Given the description of an element on the screen output the (x, y) to click on. 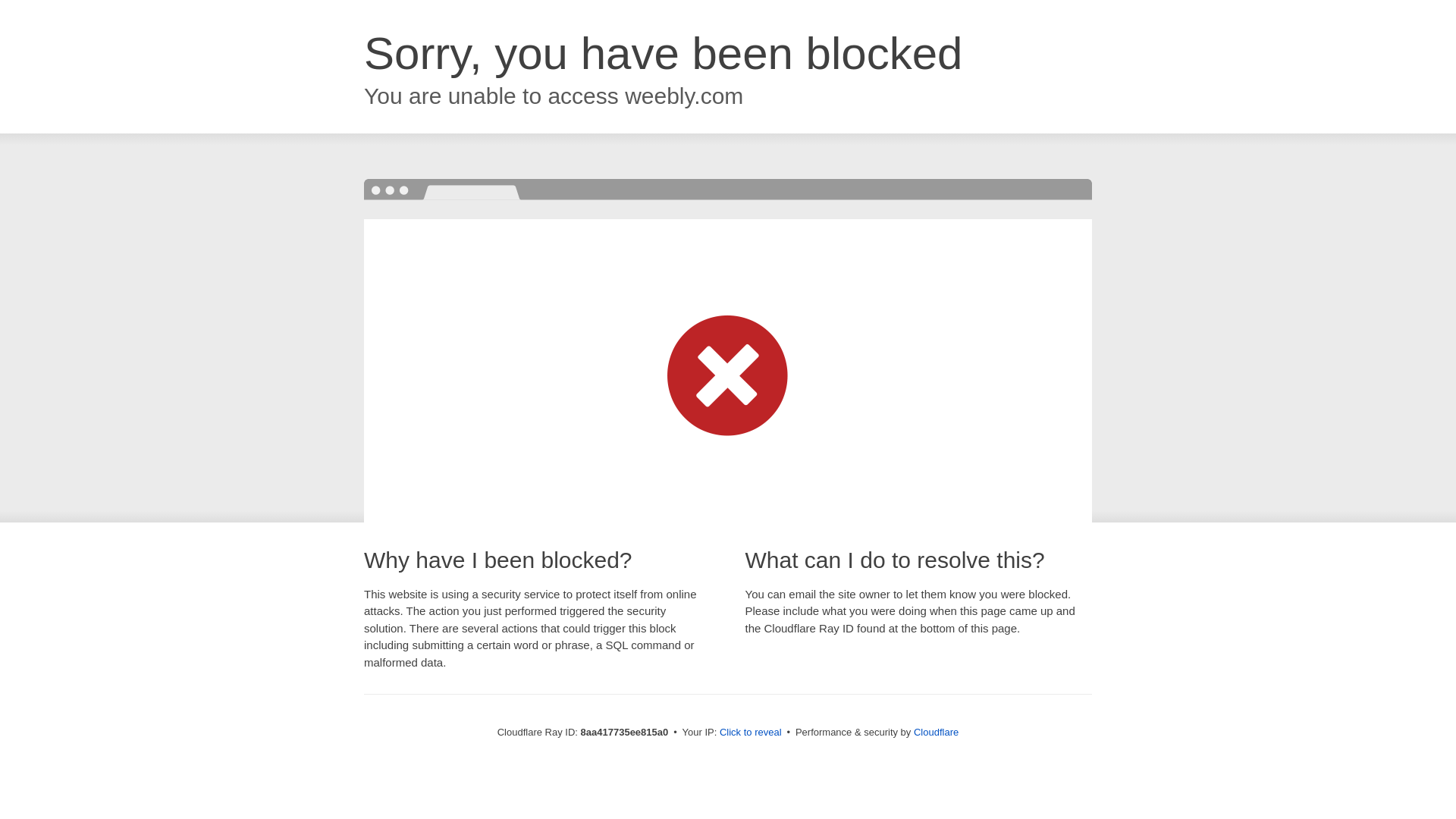
Click to reveal (750, 732)
Cloudflare (936, 731)
